Given the description of an element on the screen output the (x, y) to click on. 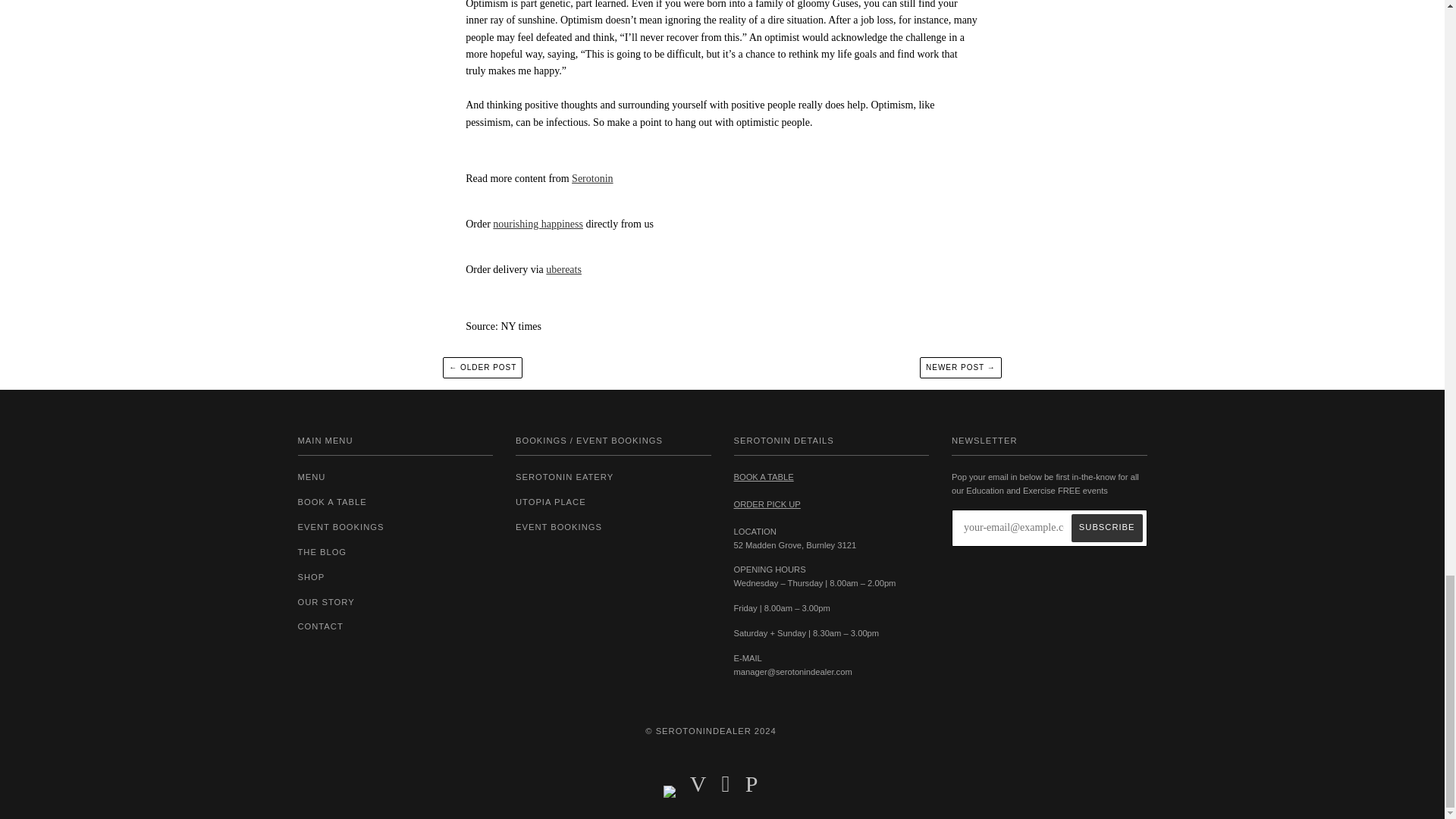
Subscribe (1106, 528)
